Given the description of an element on the screen output the (x, y) to click on. 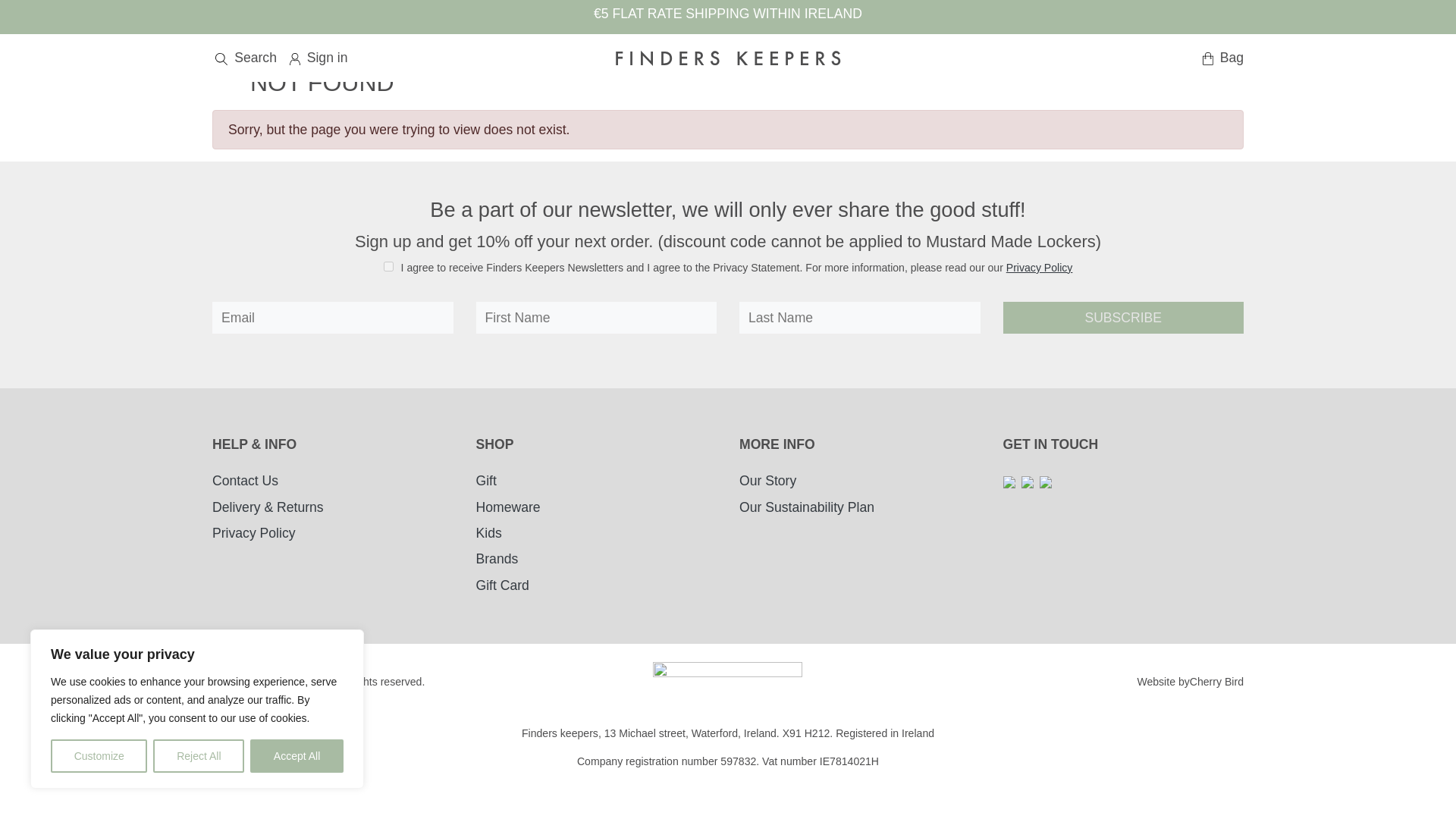
Cart View (1221, 57)
Y (388, 266)
Finders Keepers (727, 57)
Bag (763, 21)
Subscribe (1123, 317)
View your account page (316, 57)
Web Design Digital Marketing Waterford Ireland (1216, 682)
Accept All (296, 756)
View your account page (700, 21)
Cart View (763, 21)
Customize (98, 756)
Sign in (700, 21)
Reject All (198, 756)
